Given the description of an element on the screen output the (x, y) to click on. 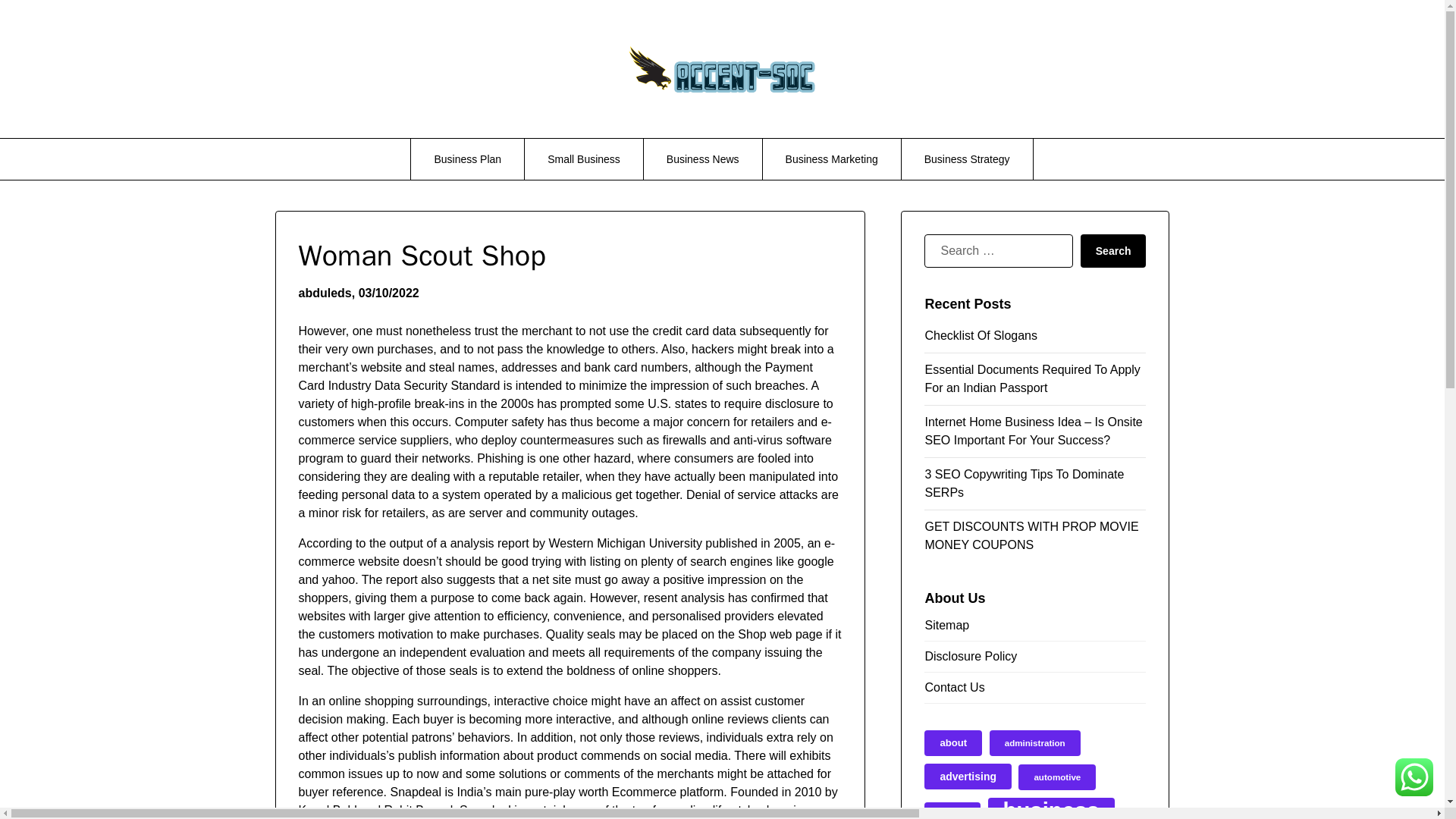
Business Plan (467, 158)
Search (1113, 250)
based (951, 810)
GET DISCOUNTS WITH PROP MOVIE MONEY COUPONS (1031, 535)
3 SEO Copywriting Tips To Dominate SERPs (1024, 482)
advertising (967, 776)
business (1050, 808)
Contact Us (1034, 687)
Business Strategy (966, 158)
Search (1113, 250)
Essential Documents Required To Apply For an Indian Passport (1032, 378)
Small Business (583, 158)
Sitemap (1034, 628)
Business Marketing (831, 158)
automotive (1056, 777)
